Given the description of an element on the screen output the (x, y) to click on. 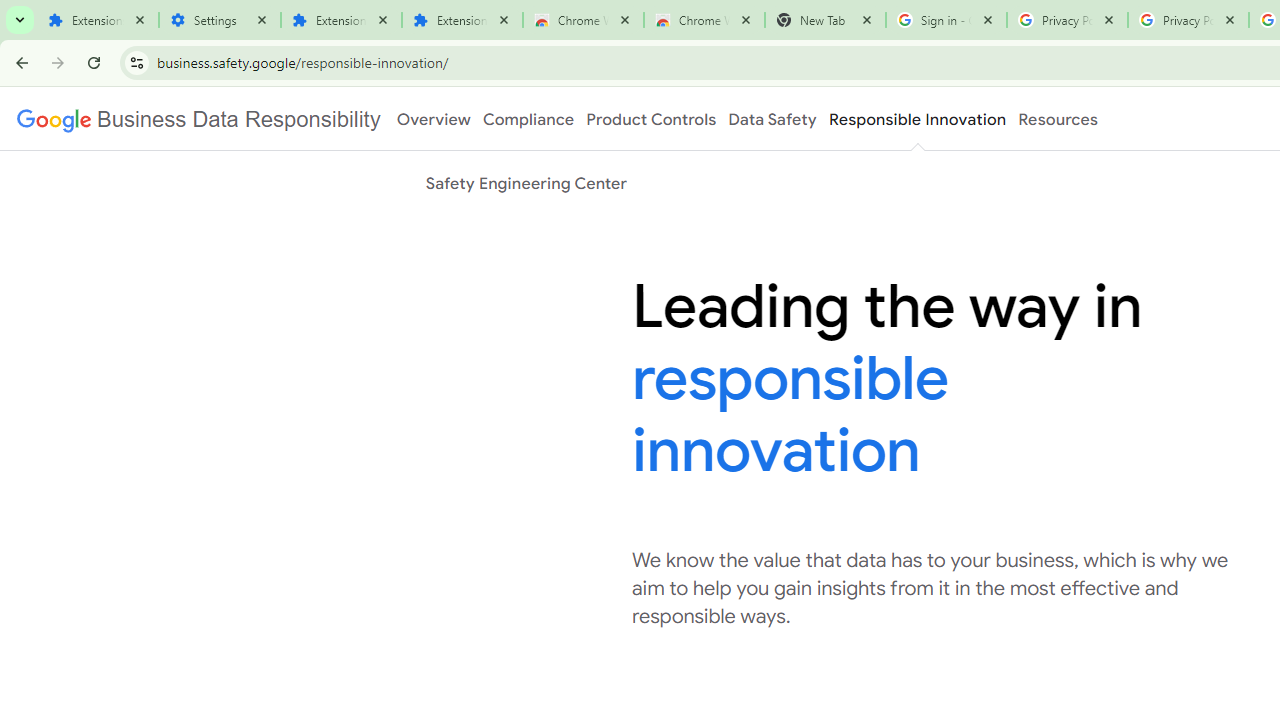
Product Controls (651, 119)
Chrome Web Store - Themes (704, 20)
Responsible Innovation (916, 119)
Extensions (340, 20)
Settings (219, 20)
Safety Engineering Center (526, 183)
